Given the description of an element on the screen output the (x, y) to click on. 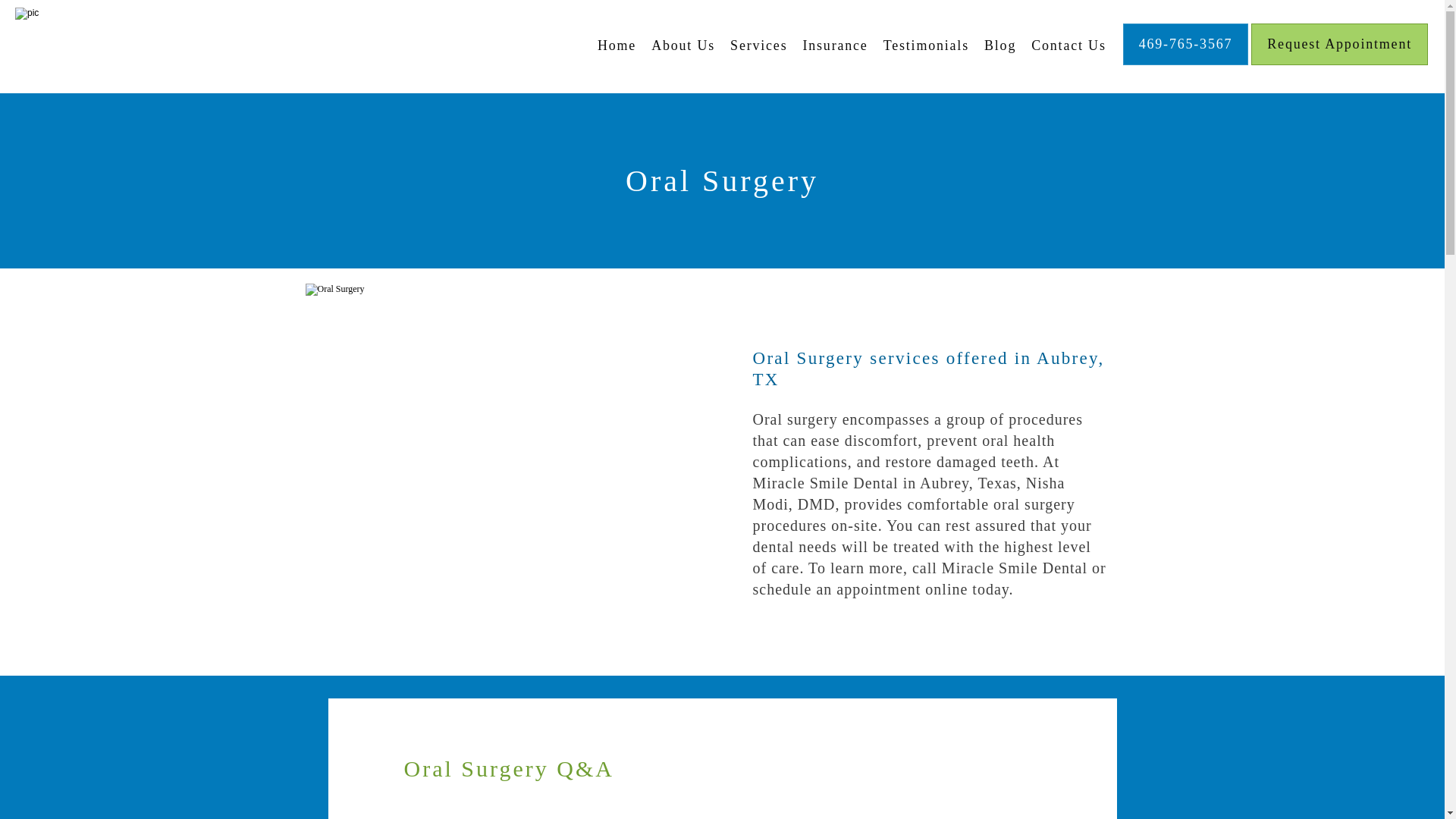
Insurance (834, 45)
Testimonials (926, 45)
Request Appointment (1339, 63)
Contact Us (1068, 45)
About Us (682, 45)
Blog (1000, 45)
Services (758, 45)
469-765-3567 (1185, 63)
Home (616, 45)
